Given the description of an element on the screen output the (x, y) to click on. 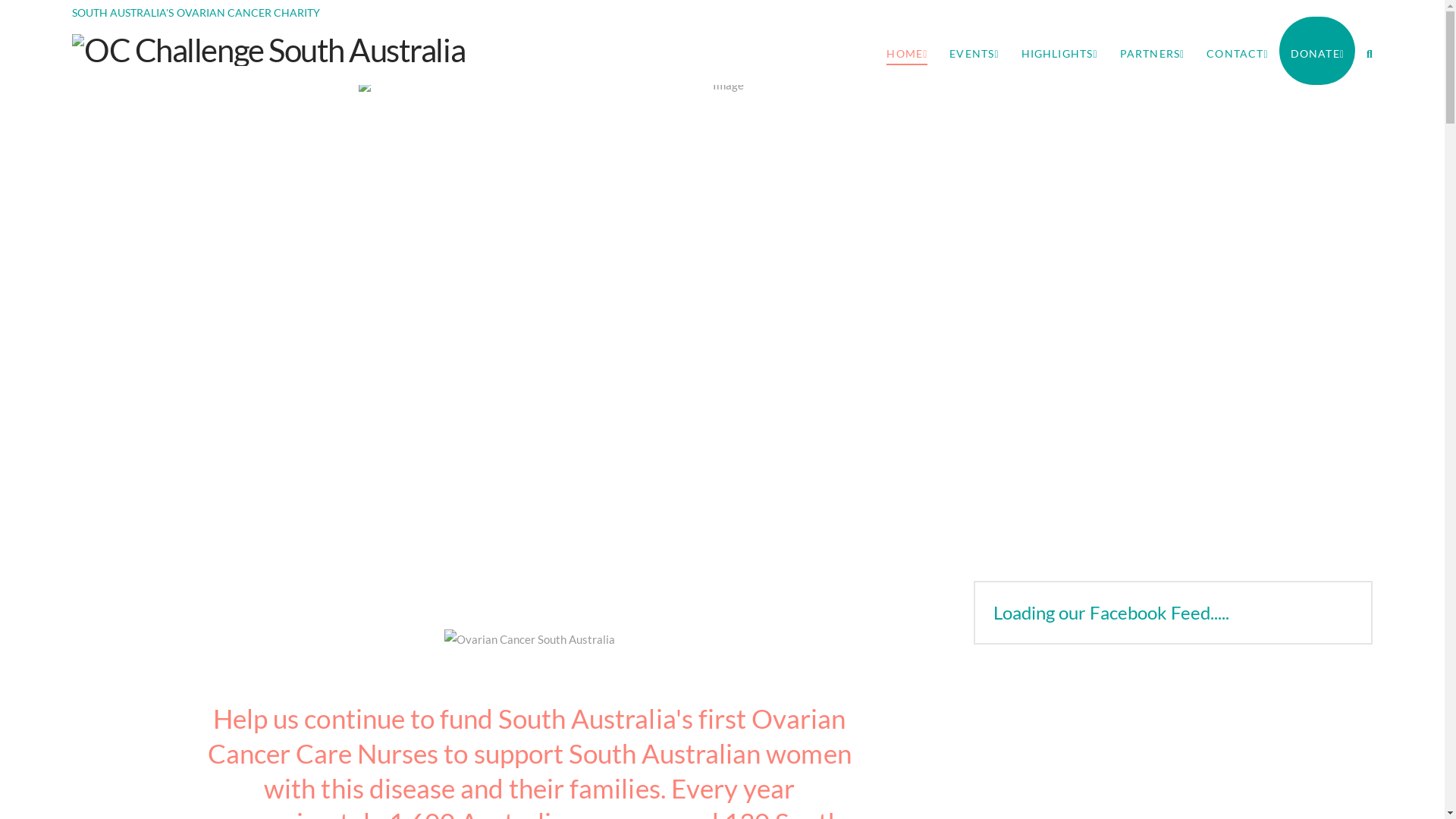
HOME Element type: text (906, 50)
PARTNERS Element type: text (1151, 50)
CONTACT Element type: text (1236, 50)
DONATE Element type: text (1317, 50)
Loading our Facebook Feed..... Element type: text (1111, 612)
HIGHLIGHTS Element type: text (1059, 50)
EVENTS Element type: text (973, 50)
